Given the description of an element on the screen output the (x, y) to click on. 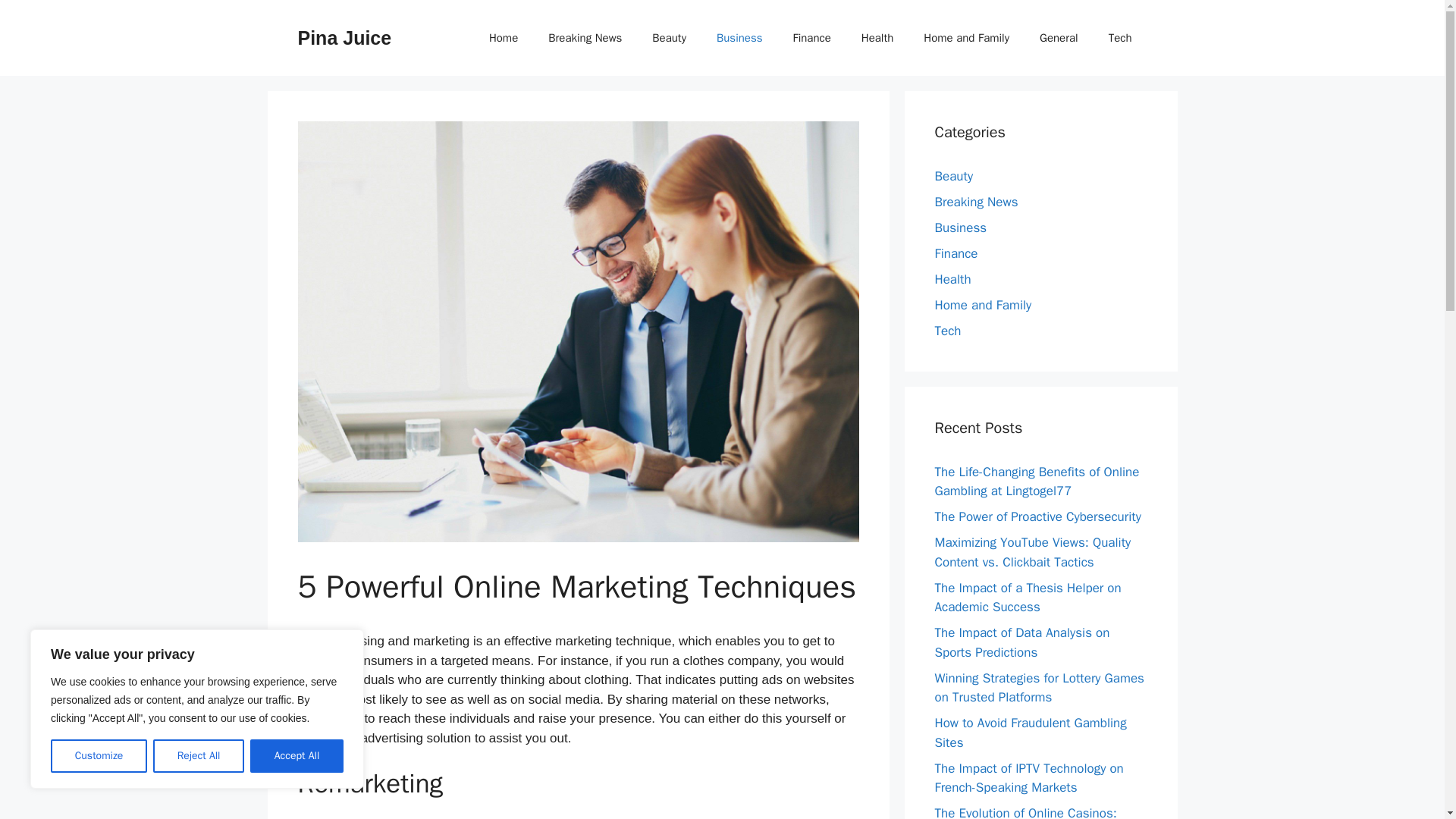
Breaking News (584, 37)
Health (876, 37)
General (1059, 37)
Business (739, 37)
Beauty (669, 37)
The Life-Changing Benefits of Online Gambling at Lingtogel77 (1036, 481)
Tech (947, 330)
Home and Family (966, 37)
Customize (98, 756)
Tech (1120, 37)
